Given the description of an element on the screen output the (x, y) to click on. 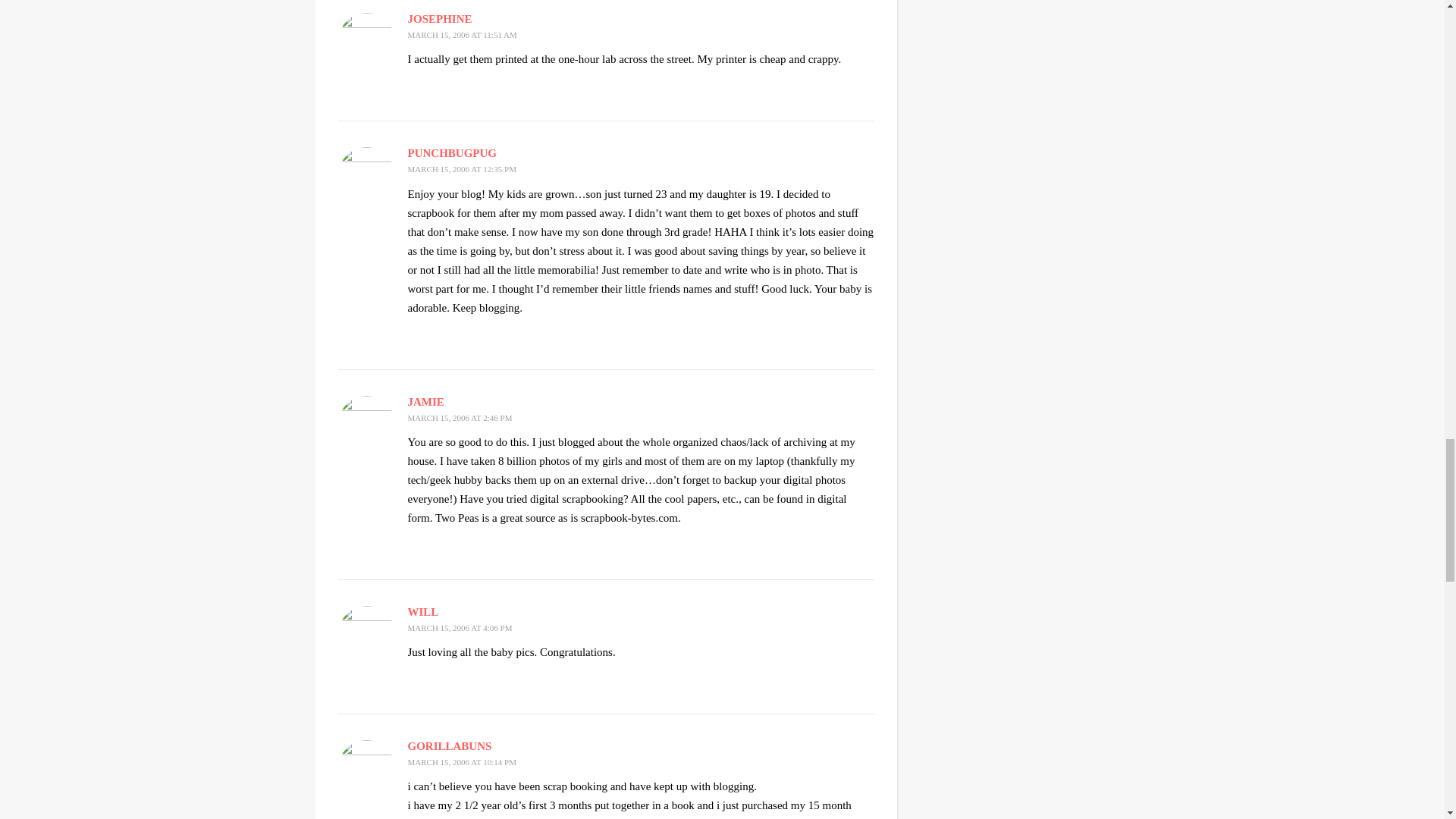
JOSEPHINE (439, 19)
MARCH 15, 2006 AT 11:51 AM (461, 34)
